Given the description of an element on the screen output the (x, y) to click on. 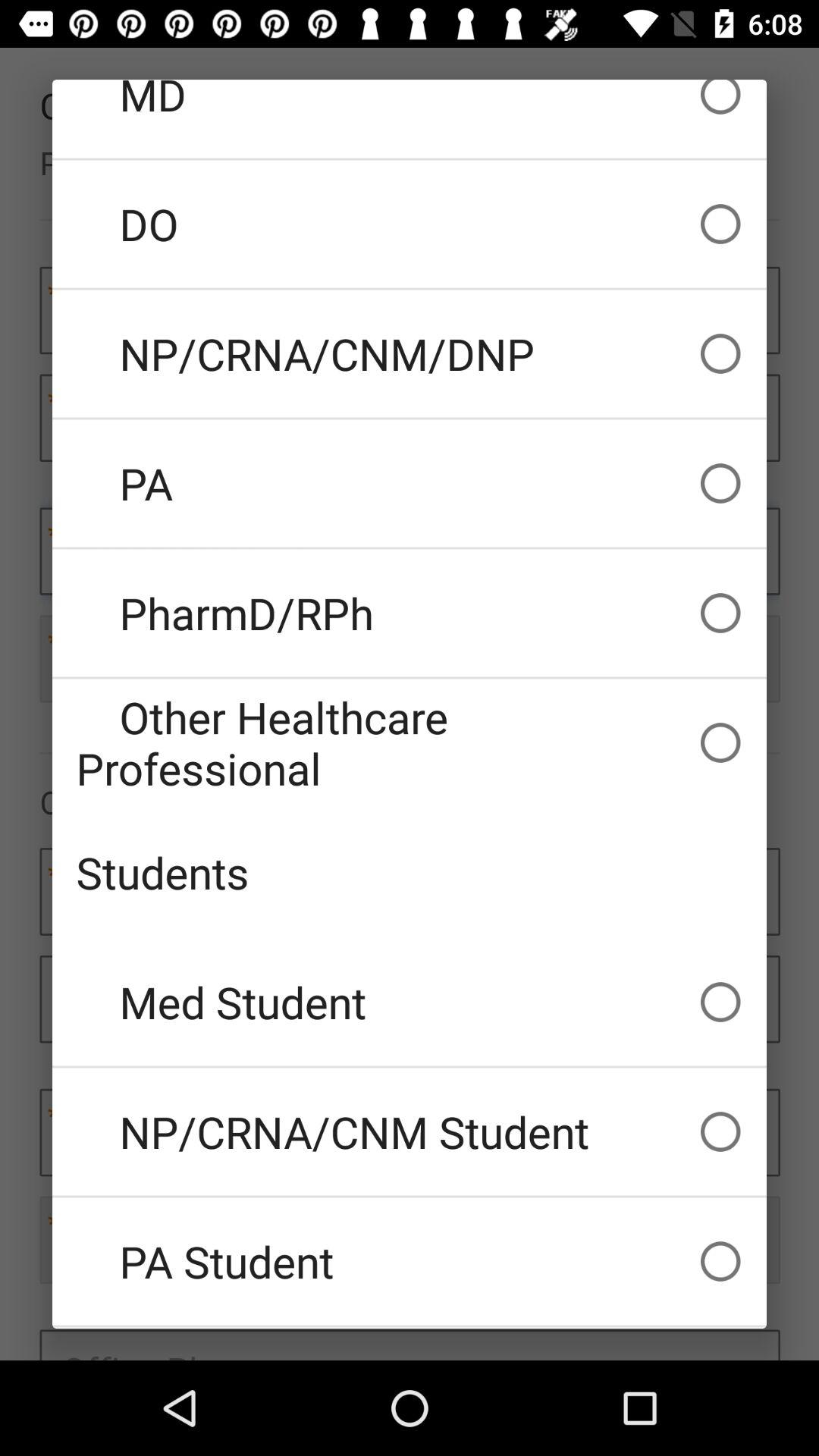
flip to other healthcare professional item (409, 742)
